Given the description of an element on the screen output the (x, y) to click on. 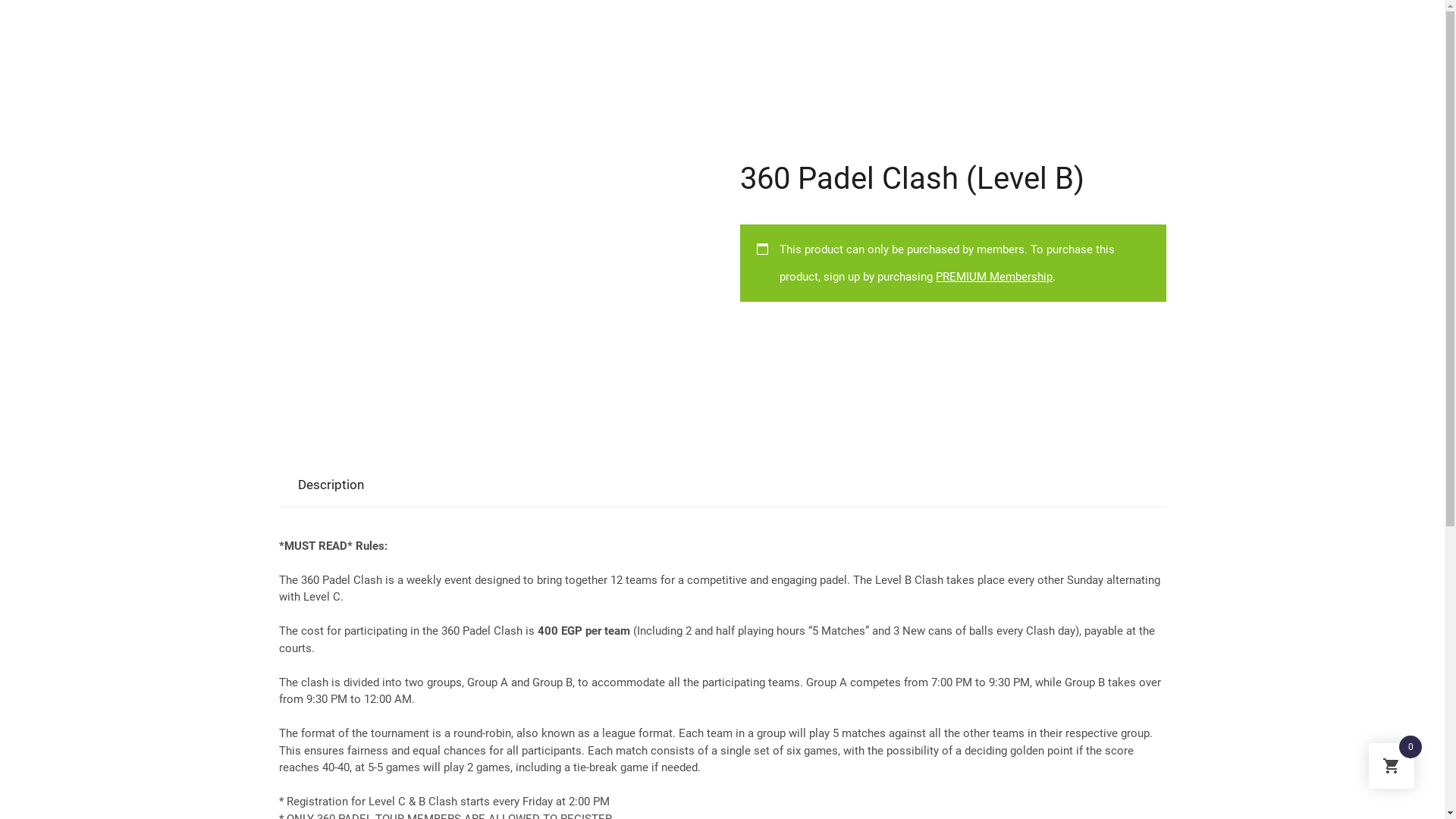
Description Element type: text (329, 484)
PREMIUM Membership Element type: text (993, 276)
